Given the description of an element on the screen output the (x, y) to click on. 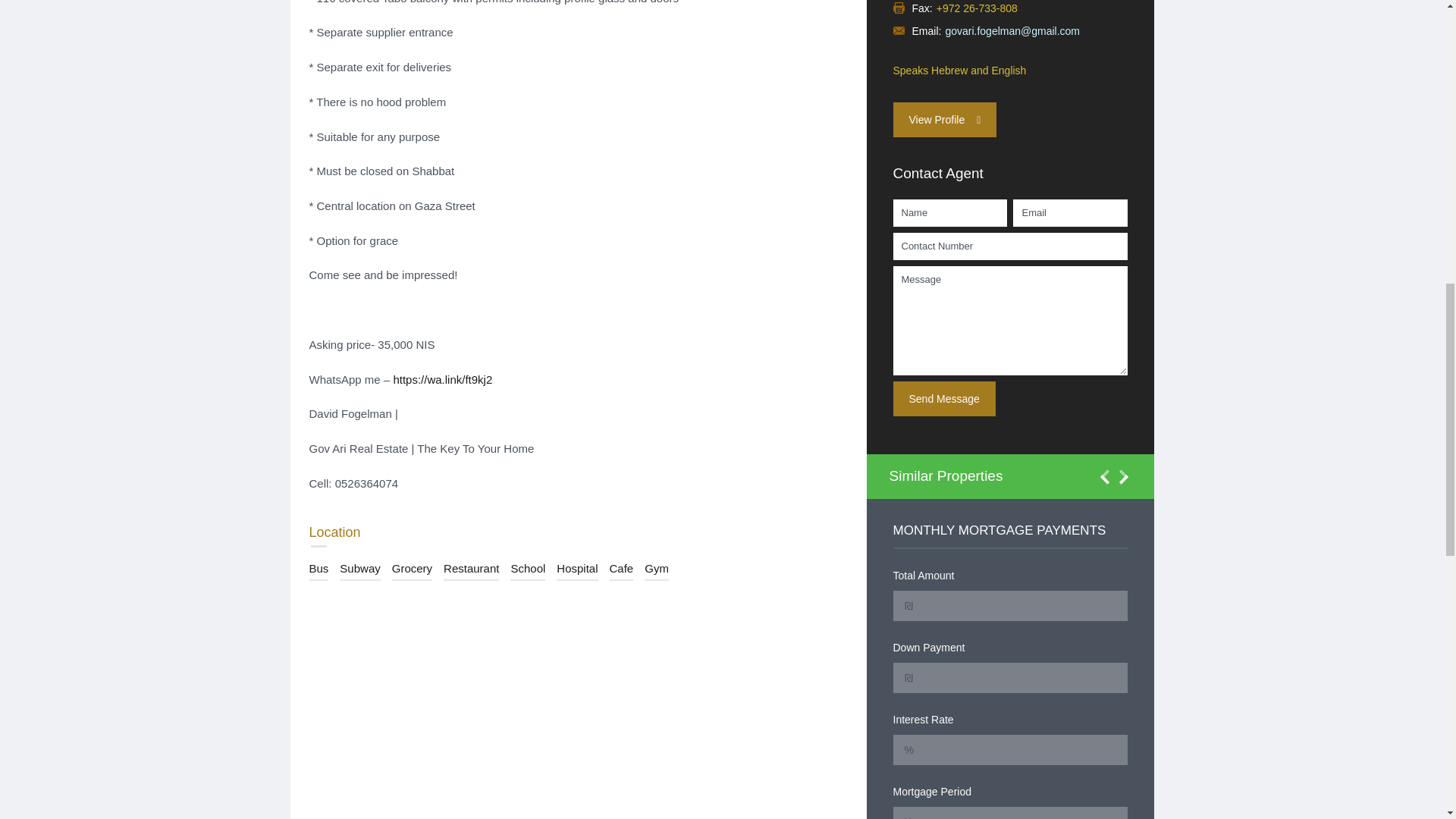
Send Message (944, 398)
Email Us! (1012, 30)
